Given the description of an element on the screen output the (x, y) to click on. 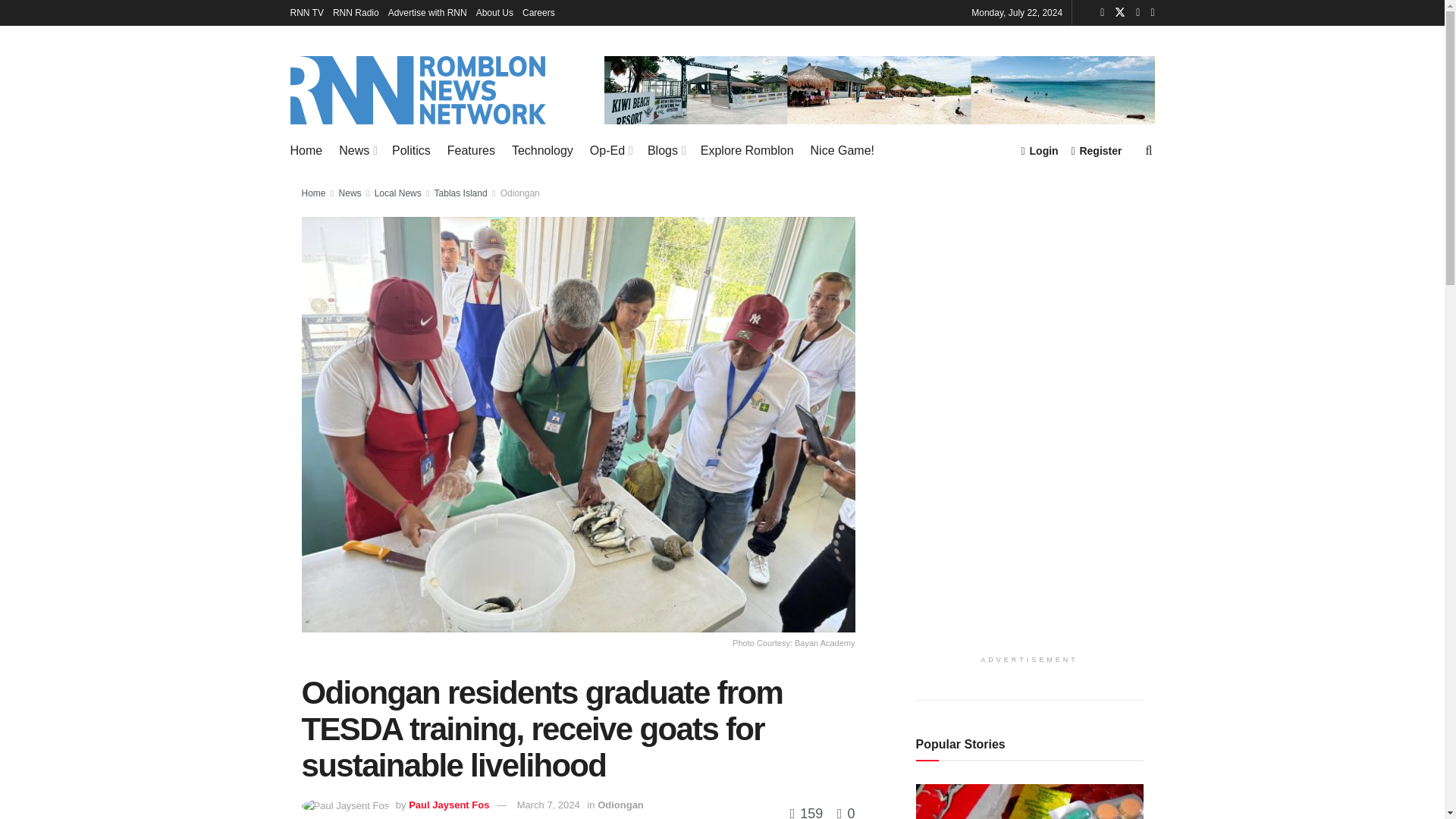
RNN Radio (355, 12)
RNN TV (306, 12)
Technology (542, 150)
Advertise with RNN (427, 12)
Home (305, 150)
Careers (538, 12)
Features (470, 150)
About Us (494, 12)
Op-Ed (609, 150)
News (357, 150)
Politics (410, 150)
